Given the description of an element on the screen output the (x, y) to click on. 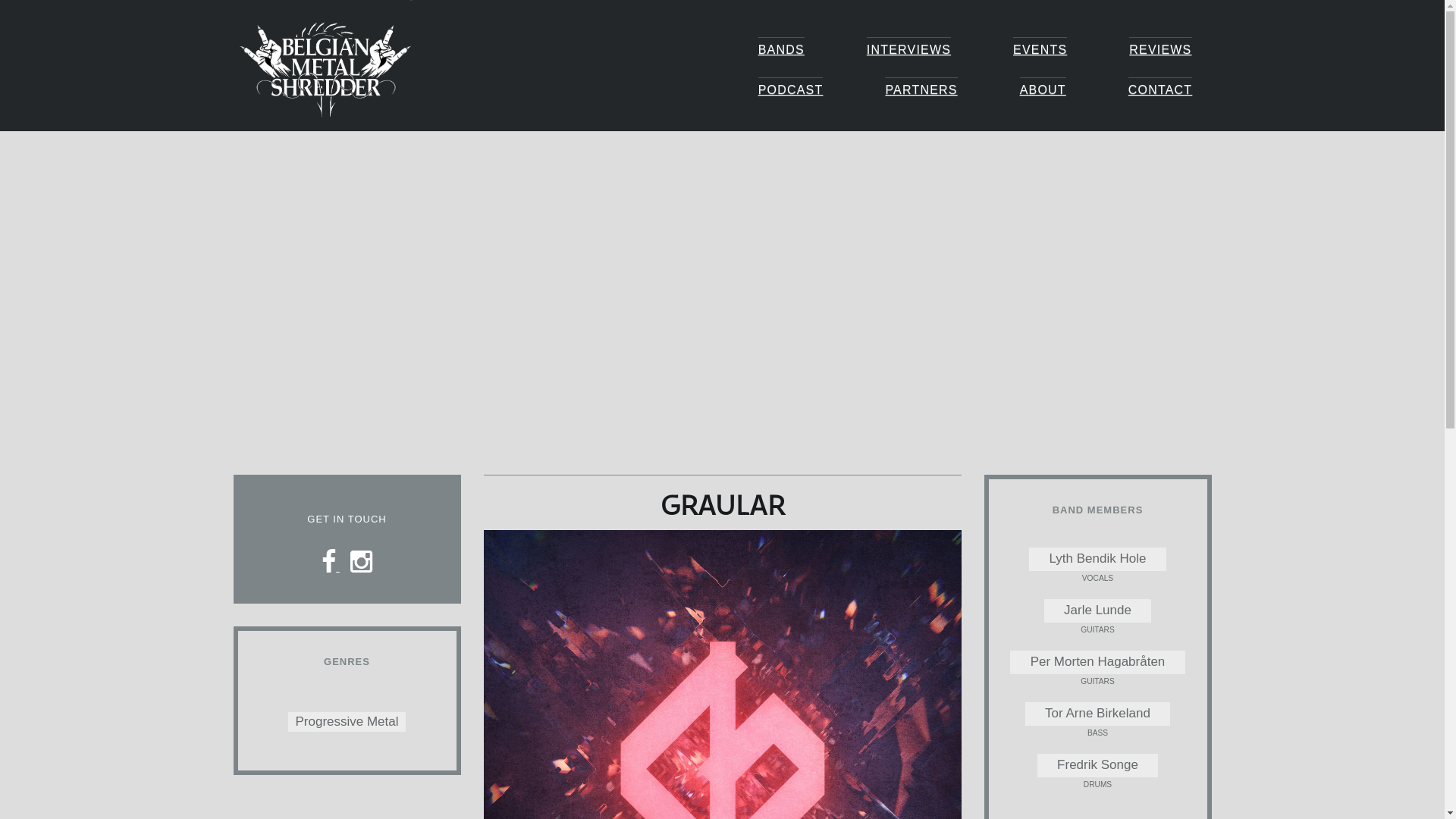
ABOUT Element type: text (1042, 88)
CONTACT Element type: text (1160, 88)
INTERVIEWS Element type: text (908, 48)
Advertisement Element type: hover (721, 257)
Welcome to Belgian Metal Shredder Element type: hover (346, 72)
BANDS Element type: text (781, 48)
REVIEWS Element type: text (1160, 48)
EVENTS Element type: text (1039, 48)
PARTNERS Element type: text (920, 88)
PODCAST Element type: text (790, 88)
